Given the description of an element on the screen output the (x, y) to click on. 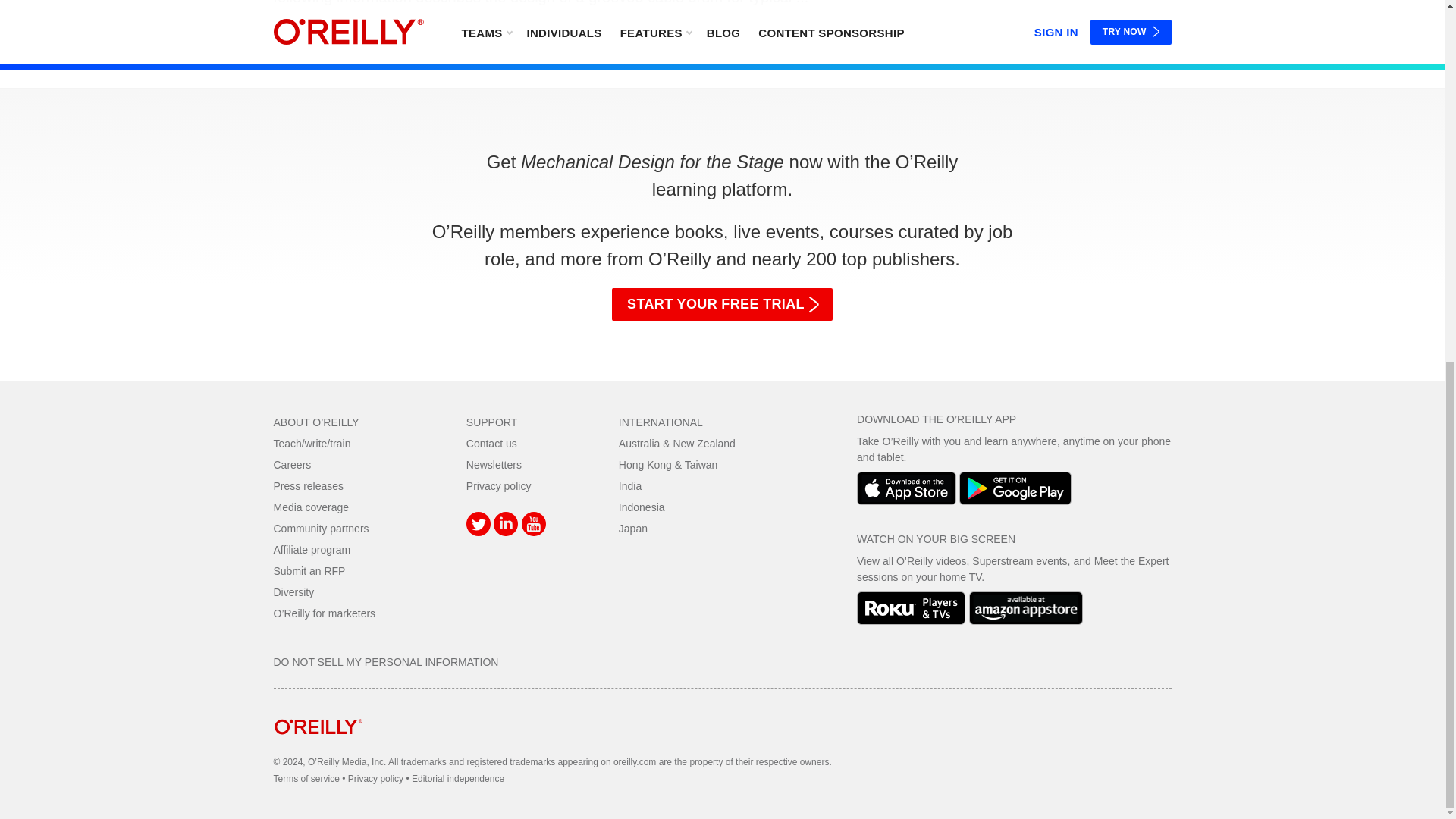
Careers (292, 464)
Submit an RFP (309, 571)
Privacy policy (498, 485)
Media coverage (311, 507)
Press releases (308, 485)
Affiliate program (311, 549)
home page (317, 745)
Diversity (293, 592)
Contact us (490, 443)
SUPPORT (490, 422)
Newsletters (493, 464)
START YOUR FREE TRIAL (721, 304)
Community partners (320, 528)
